Given the description of an element on the screen output the (x, y) to click on. 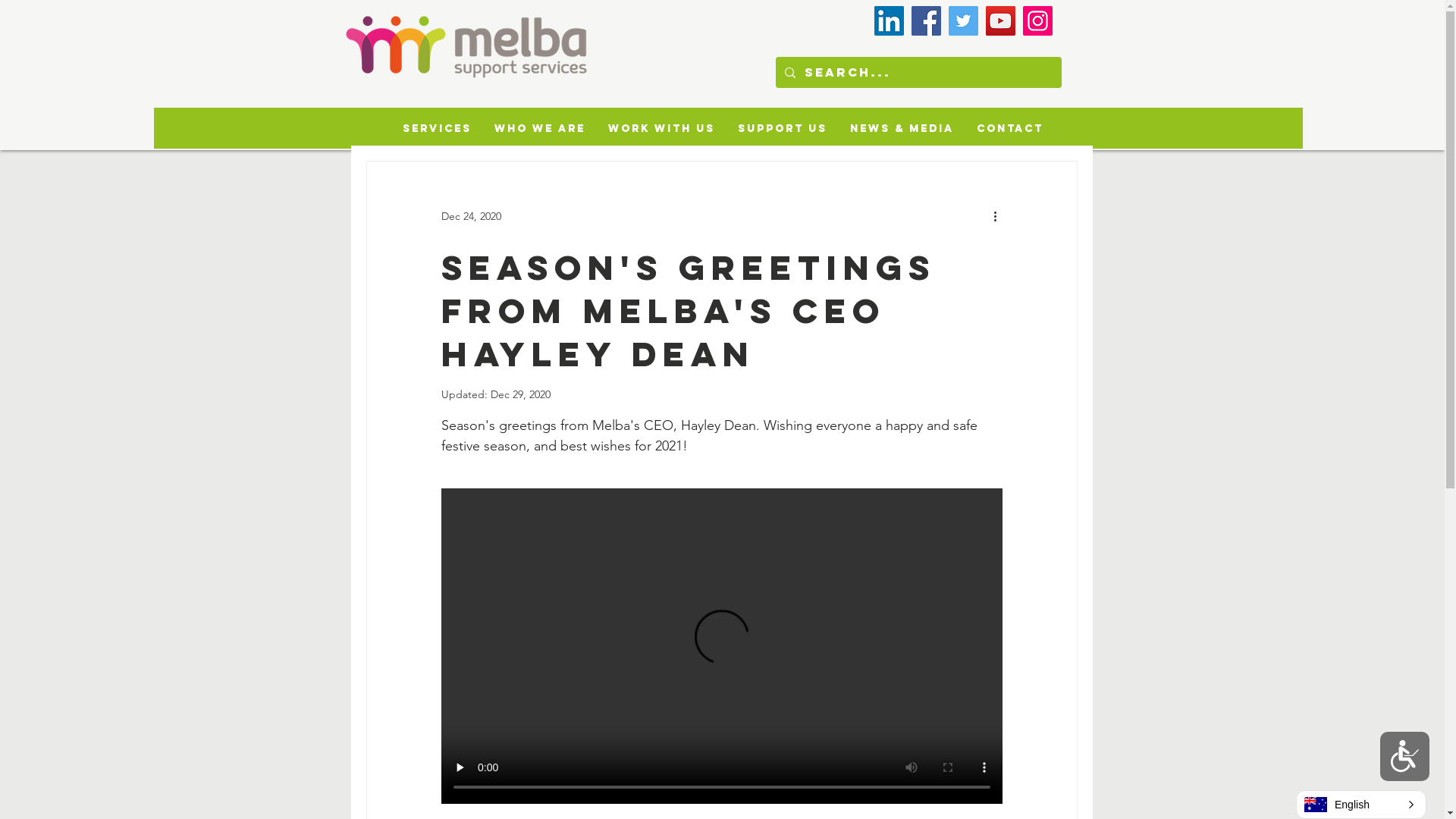
Work with us Element type: text (660, 128)
Services Element type: text (437, 128)
Contact Element type: text (1009, 128)
